Given the description of an element on the screen output the (x, y) to click on. 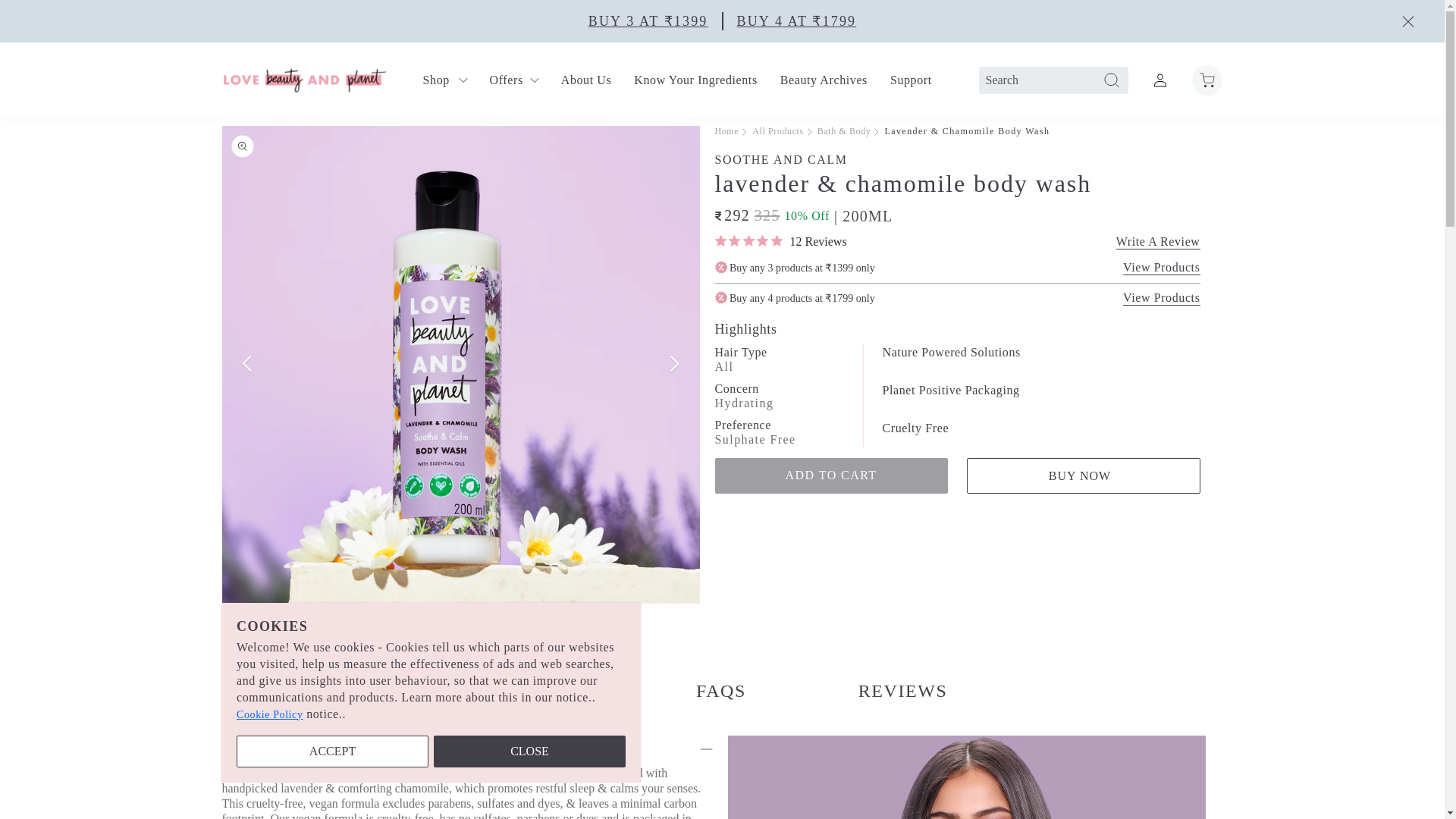
Cookie Policy (268, 713)
Shop (445, 80)
CLOSE (529, 751)
12 Reviews (779, 241)
ACCEPT (331, 751)
Skip to content (45, 17)
